Given the description of an element on the screen output the (x, y) to click on. 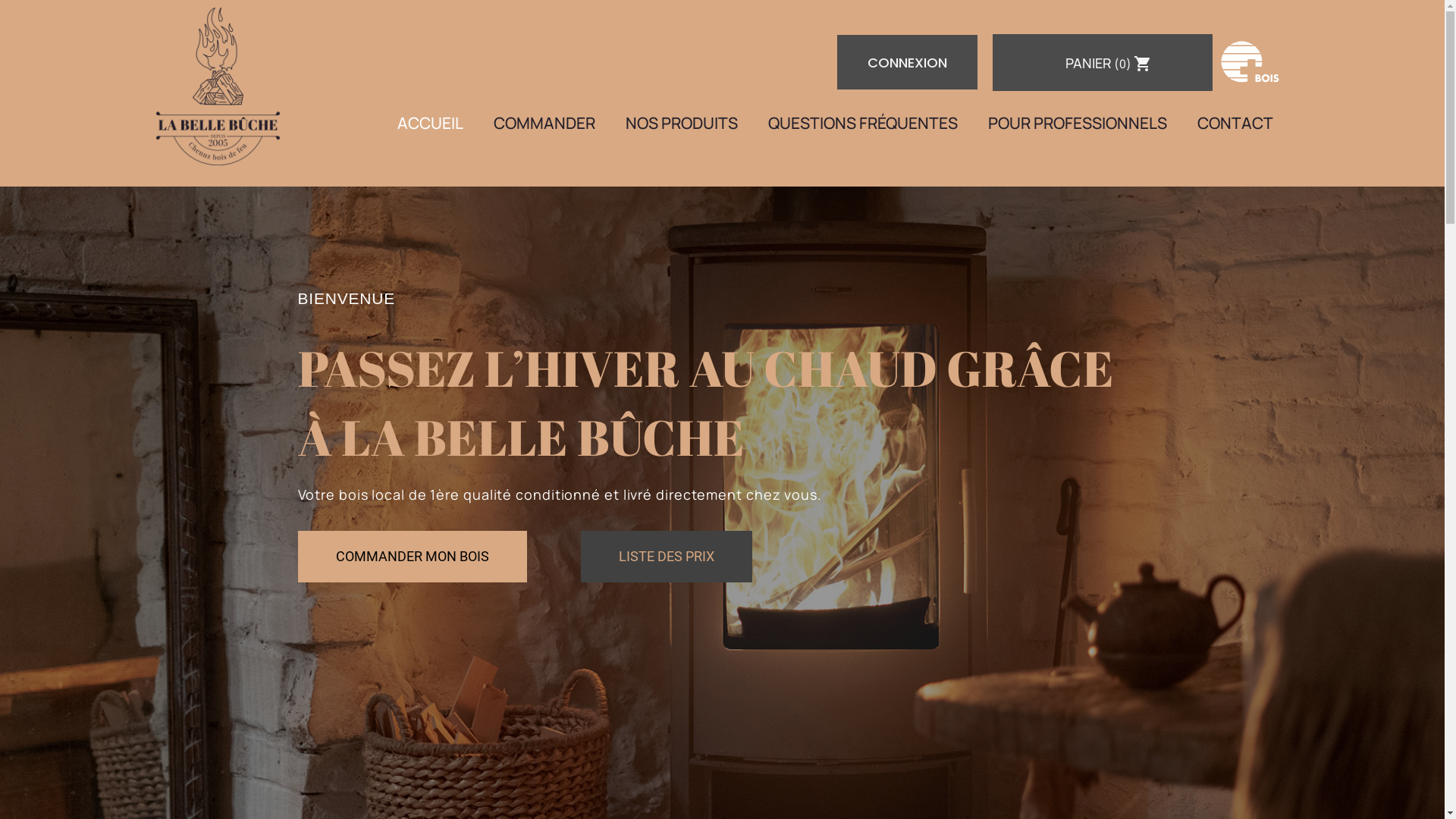
ACCUEIL Element type: text (430, 122)
COMMANDER Element type: text (544, 122)
COMMANDER MON BOIS Element type: text (411, 556)
NOS PRODUITS Element type: text (681, 122)
LISTE DES PRIX Element type: text (666, 556)
POUR PROFESSIONNELS Element type: text (1077, 122)
CONNEXION Element type: text (907, 61)
CONTACT Element type: text (1235, 122)
